Given the description of an element on the screen output the (x, y) to click on. 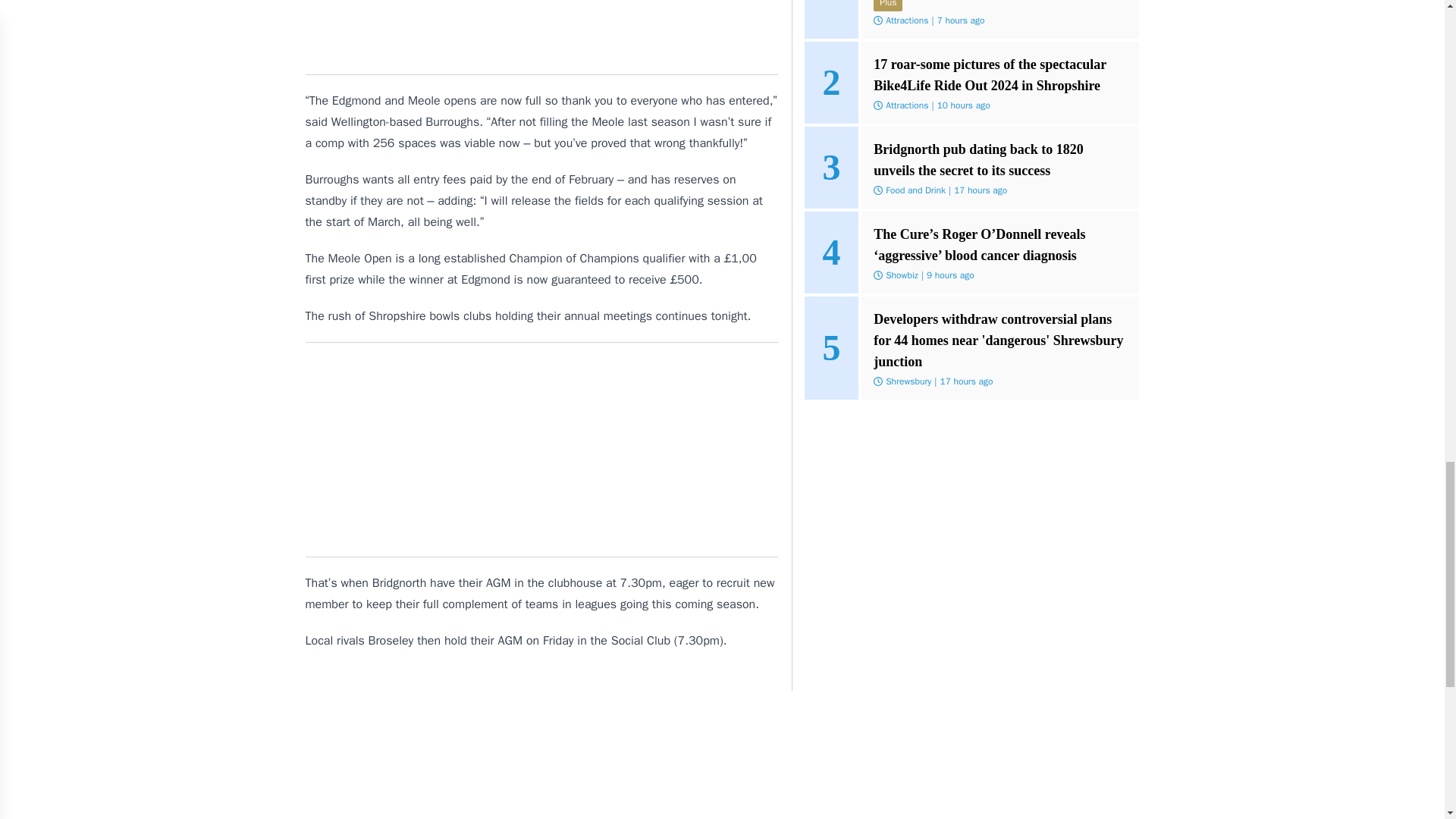
Attractions (906, 20)
Food and Drink (914, 190)
Shrewsbury (908, 381)
Showbiz (901, 275)
Attractions (906, 105)
